Given the description of an element on the screen output the (x, y) to click on. 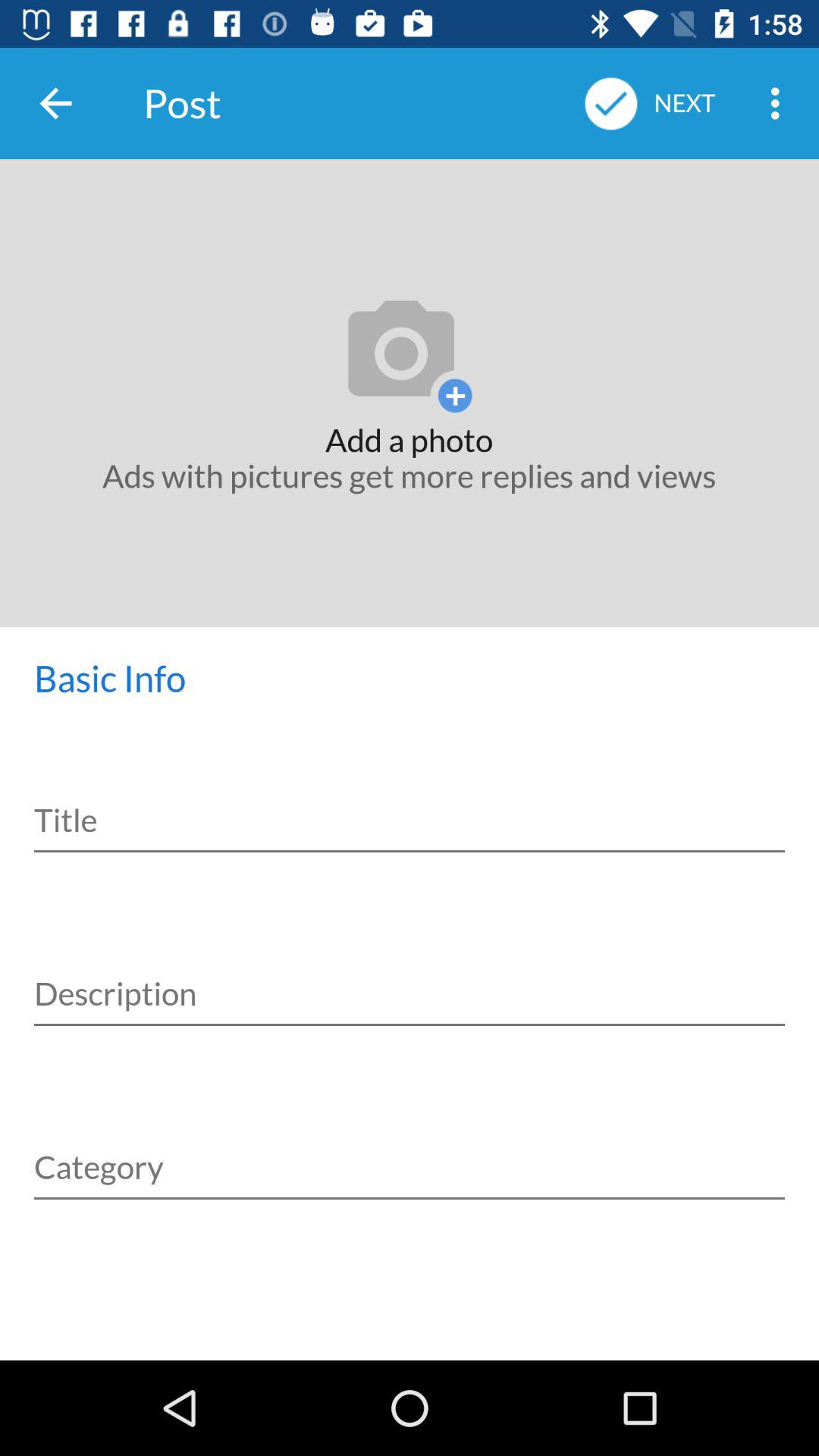
enter the category (409, 1150)
